Given the description of an element on the screen output the (x, y) to click on. 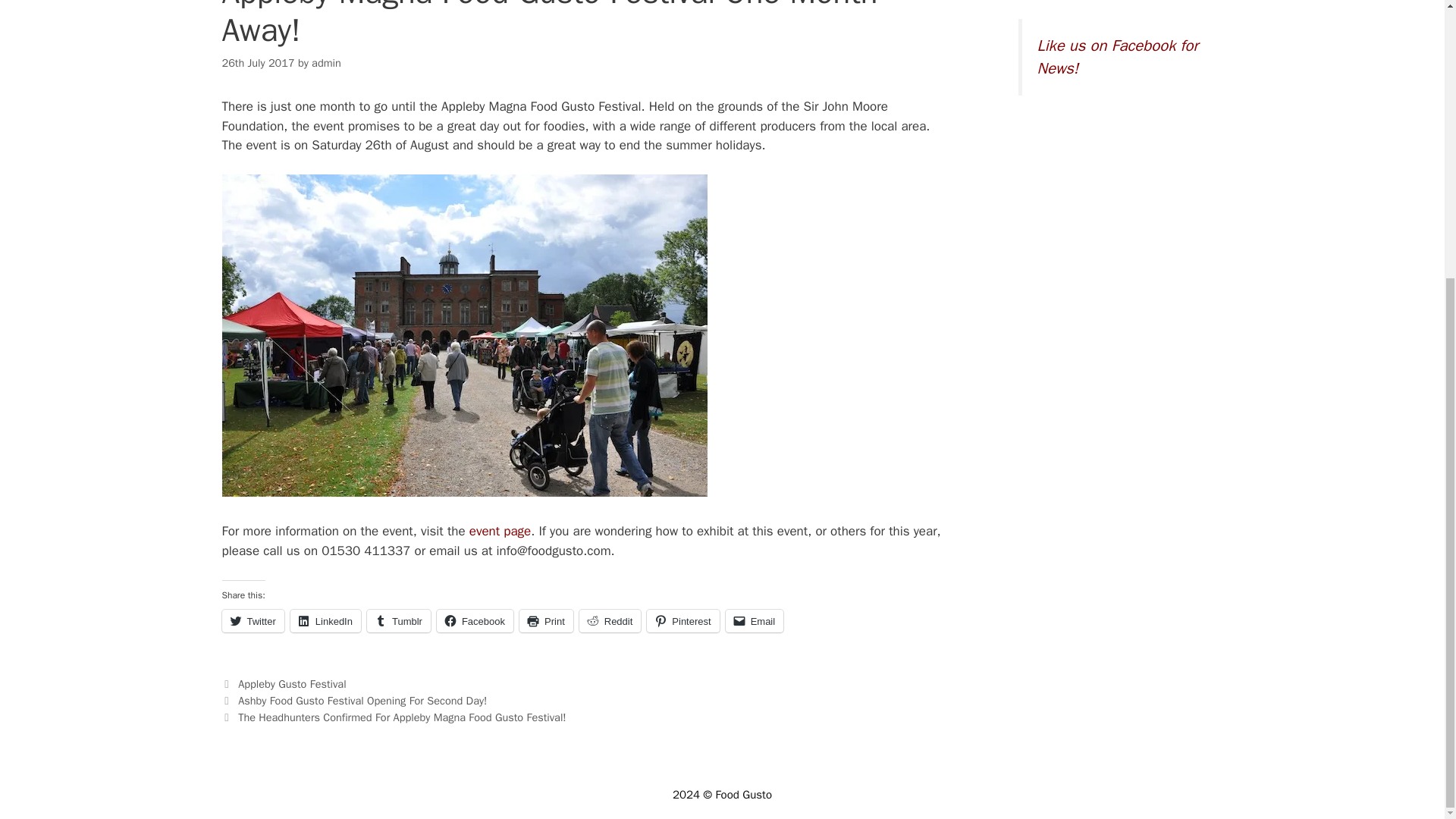
Pinterest (682, 620)
Facebook (474, 620)
Email (754, 620)
Click to share on Pinterest (682, 620)
LinkedIn (325, 620)
Print (546, 620)
Click to share on LinkedIn (325, 620)
Click to share on Reddit (610, 620)
event page (499, 530)
Reddit (610, 620)
